Given the description of an element on the screen output the (x, y) to click on. 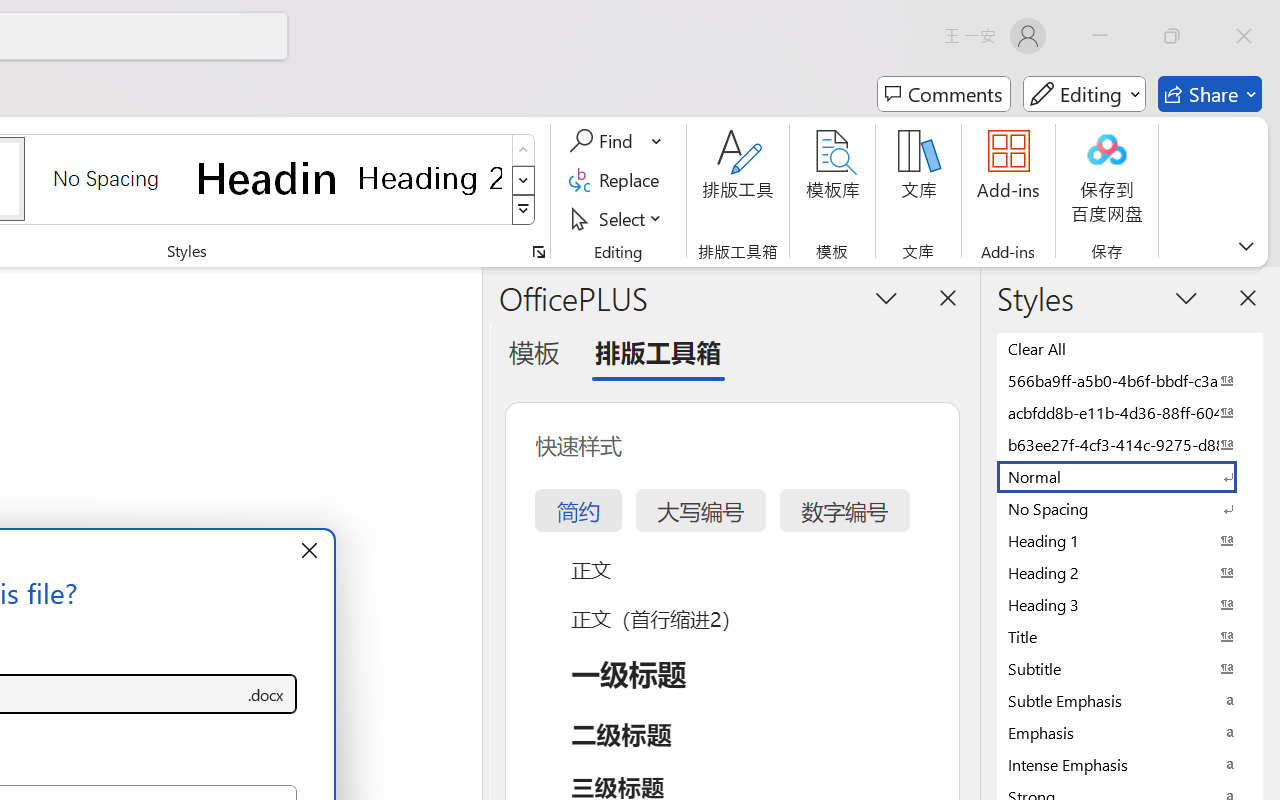
Styles... (538, 252)
b63ee27f-4cf3-414c-9275-d88e3f90795e (1130, 444)
Task Pane Options (886, 297)
